Given the description of an element on the screen output the (x, y) to click on. 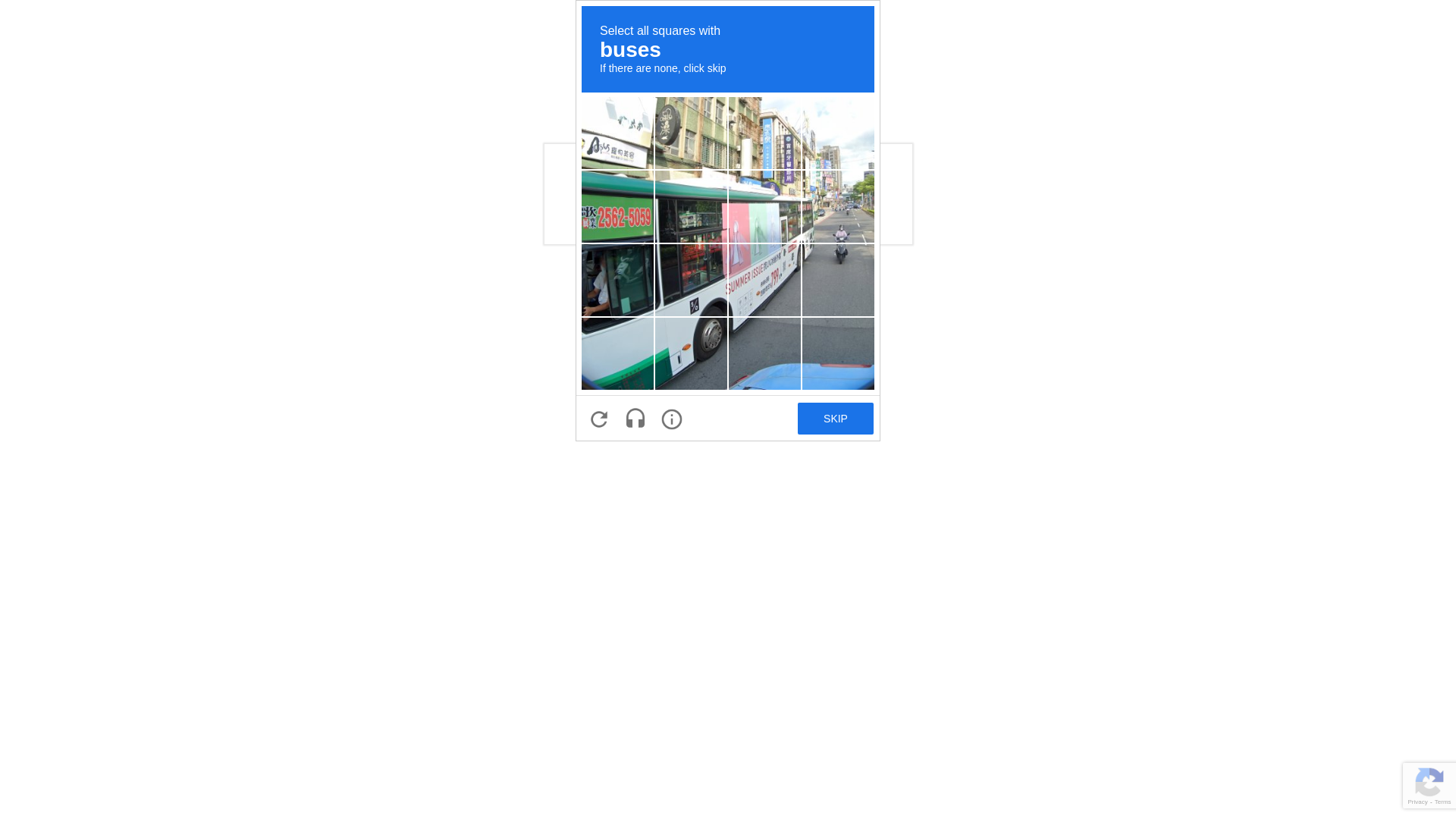
recaptcha challenge expires in two minutes Element type: hover (727, 220)
